Given the description of an element on the screen output the (x, y) to click on. 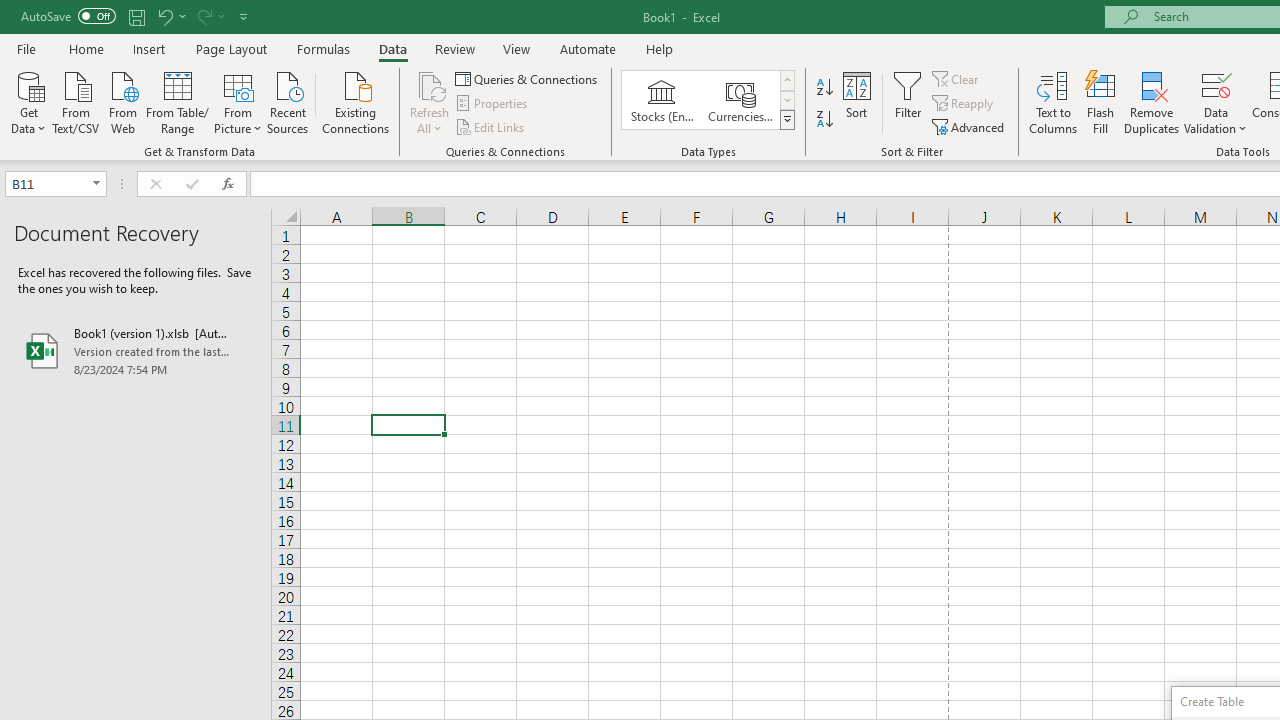
Properties (492, 103)
Data (392, 48)
Open (96, 183)
Data Types (786, 120)
Data Validation... (1215, 84)
Class: NetUIImage (787, 119)
From Text/CSV (75, 101)
AutoSave (68, 16)
